Given the description of an element on the screen output the (x, y) to click on. 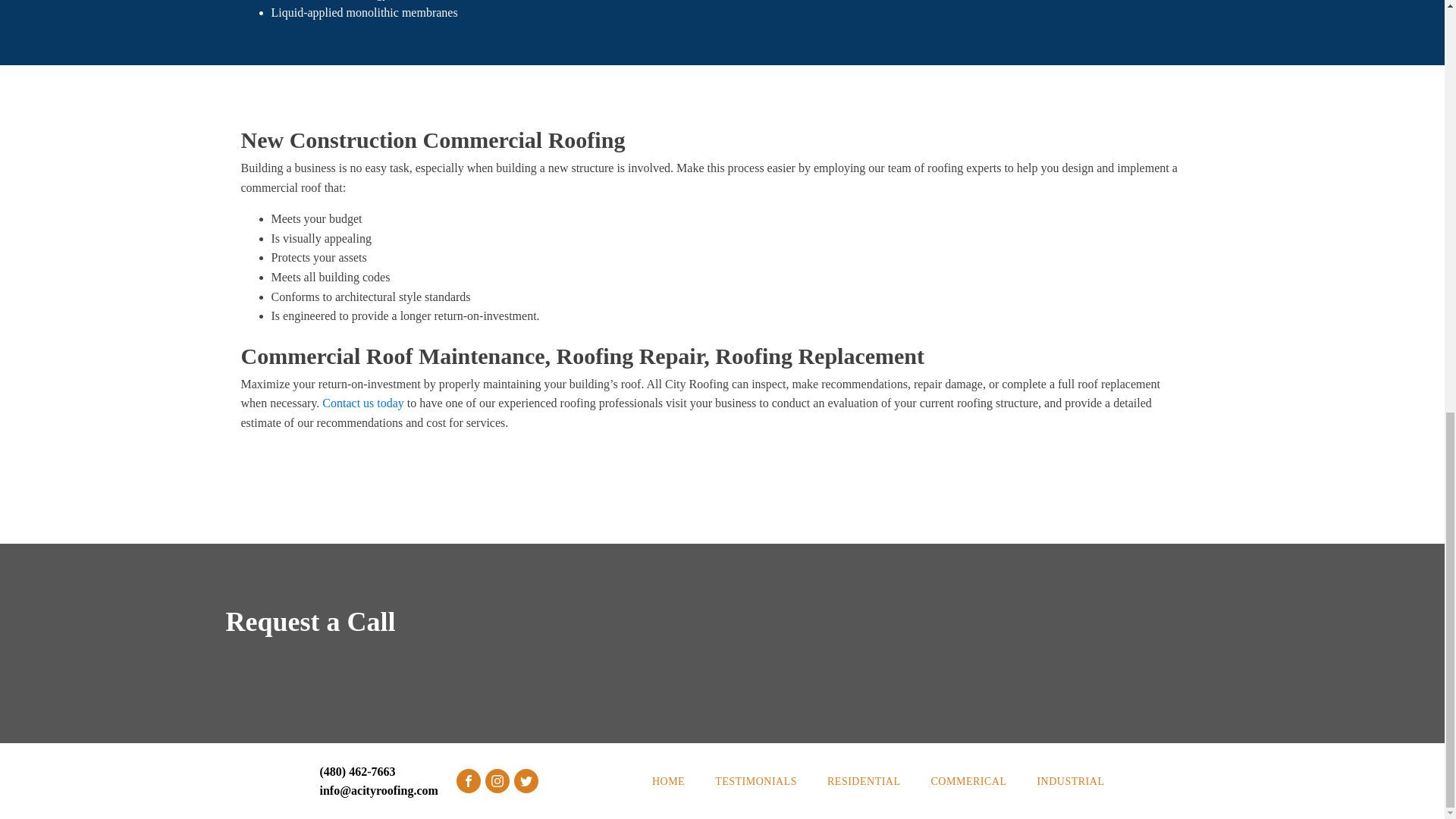
COMMERICAL (968, 781)
TESTIMONIALS (756, 781)
Contact us today (362, 402)
HOME (668, 781)
Schedule Your Free Estimate (722, 466)
RESIDENTIAL (863, 781)
INDUSTRIAL (1070, 781)
